Given the description of an element on the screen output the (x, y) to click on. 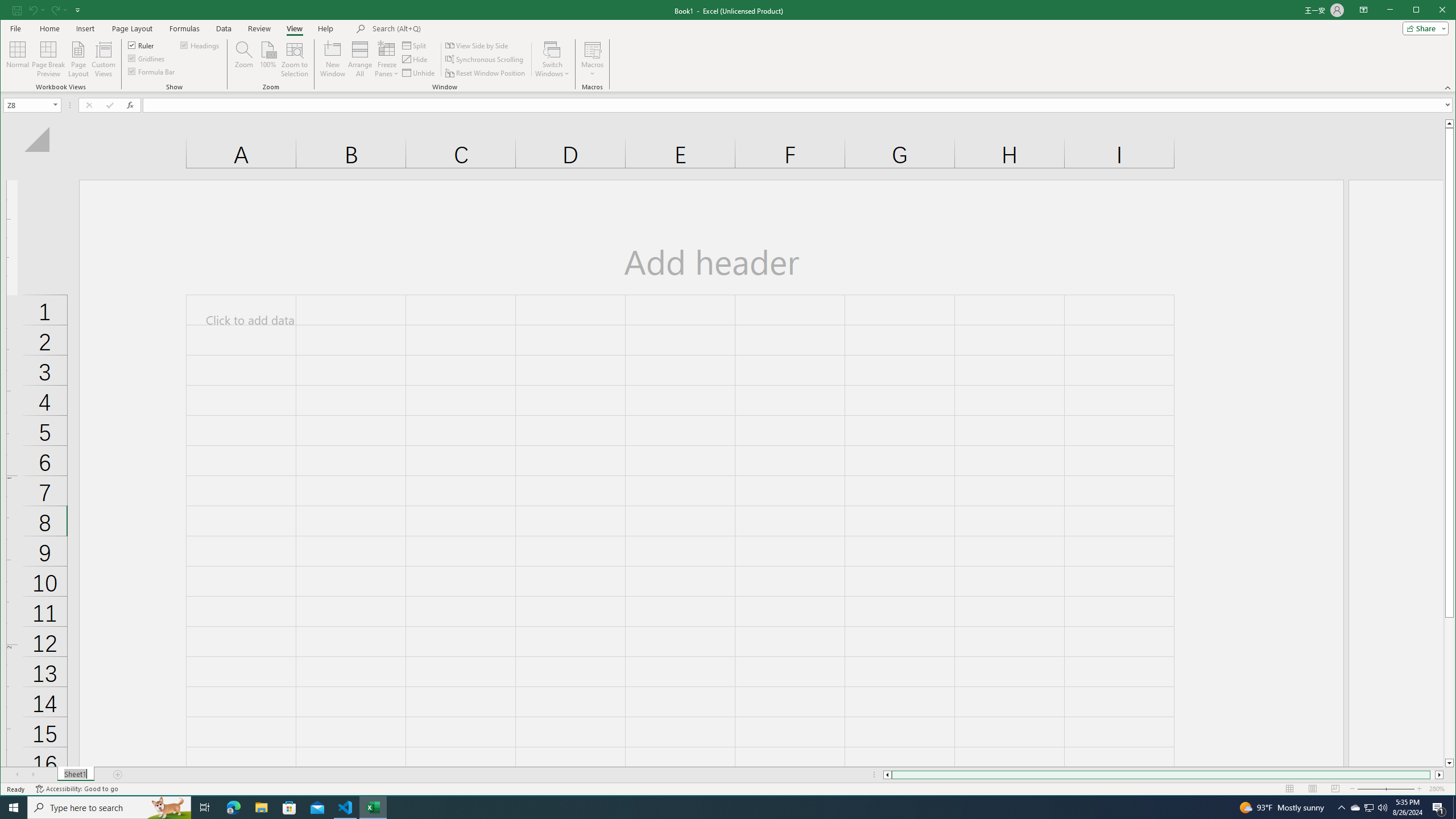
Start (13, 807)
